Given the description of an element on the screen output the (x, y) to click on. 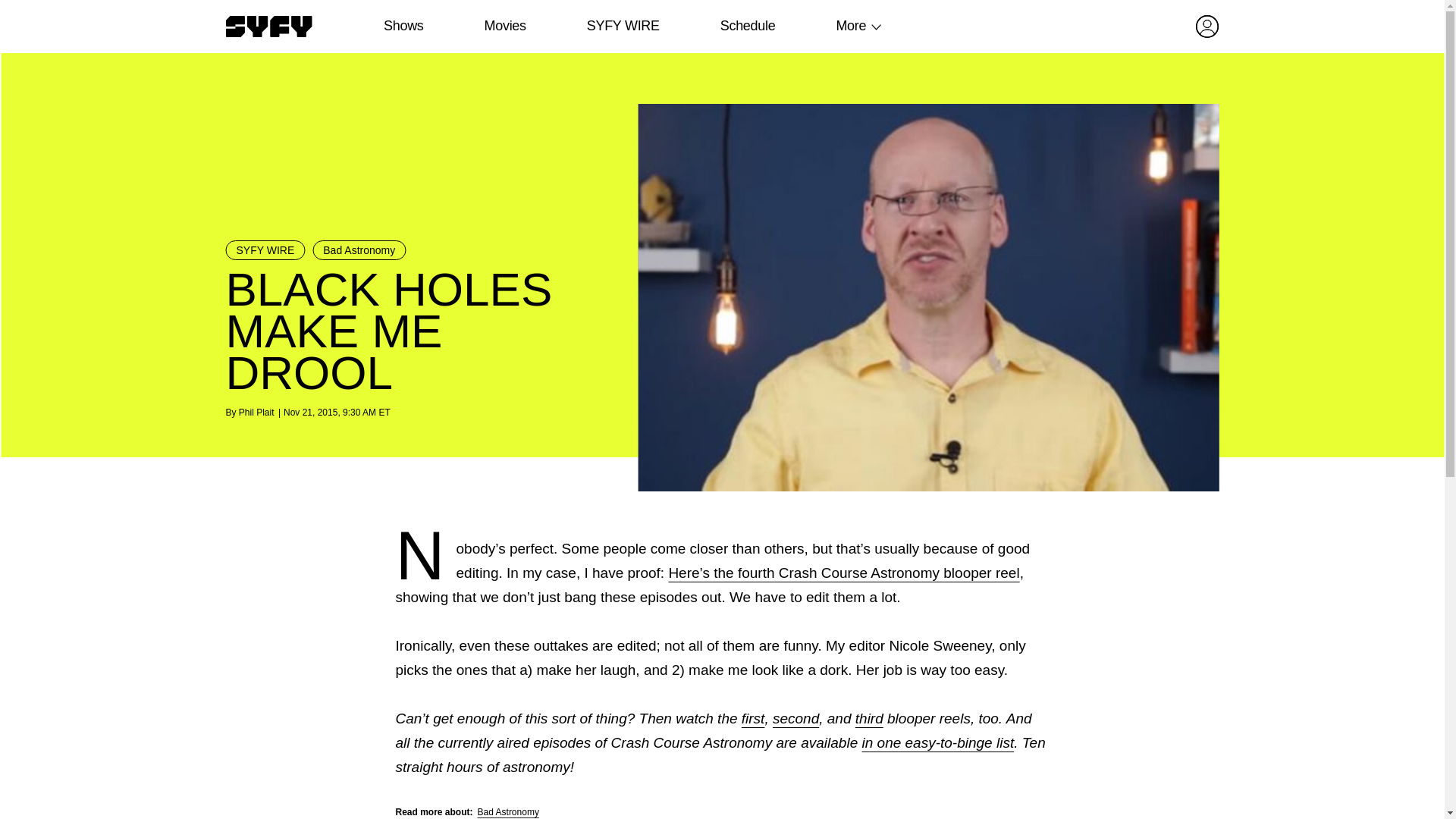
Movies (504, 26)
Shows (403, 26)
Bad Astronomy (507, 811)
Bad Astronomy (359, 250)
Phil Plait (256, 412)
Schedule (746, 26)
SYFY WIRE (622, 26)
third (869, 718)
first (753, 718)
More (850, 26)
in one easy-to-binge list (937, 742)
second (795, 718)
SYFY WIRE (265, 250)
